Given the description of an element on the screen output the (x, y) to click on. 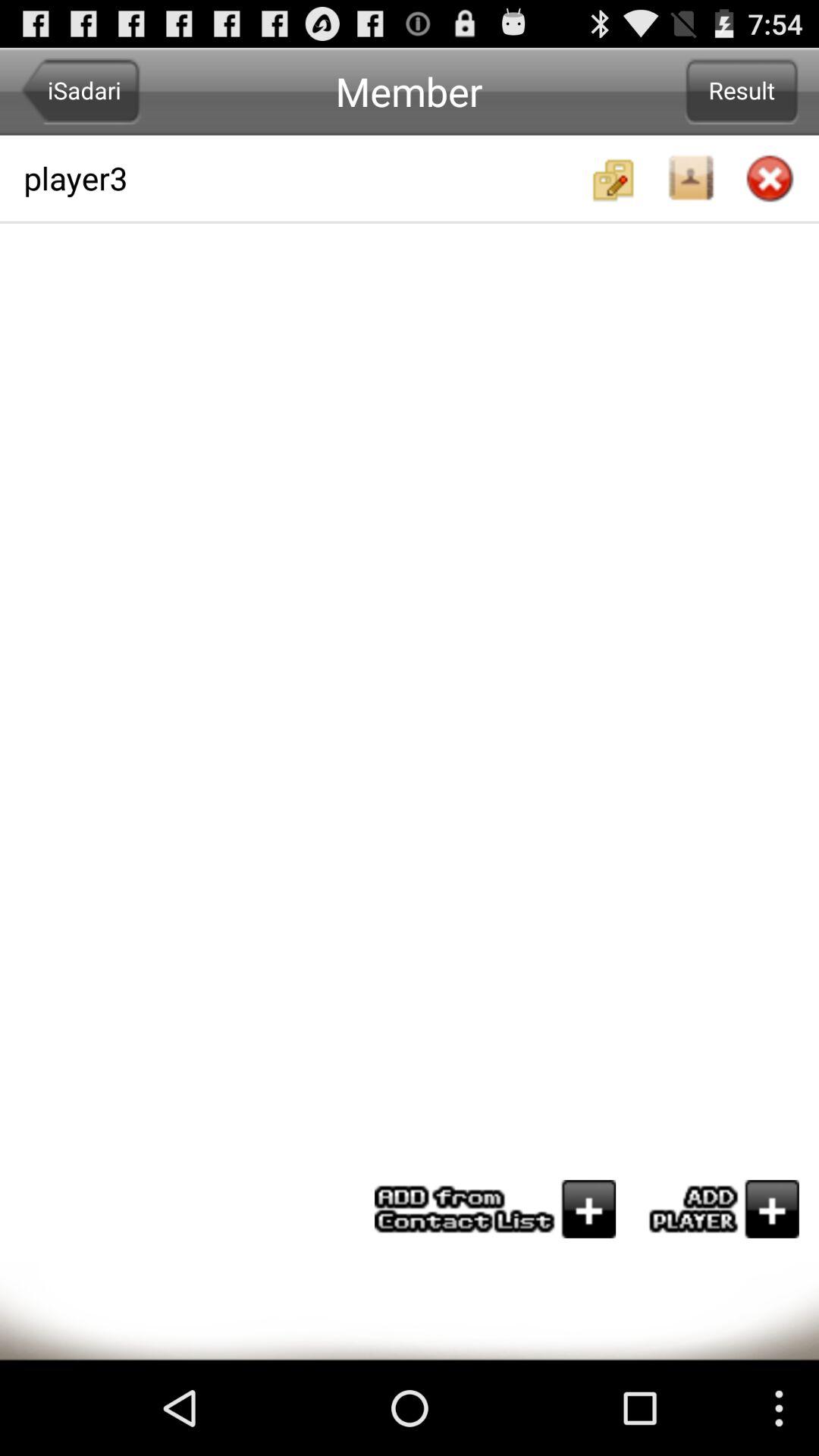
scroll until player3 (304, 178)
